Given the description of an element on the screen output the (x, y) to click on. 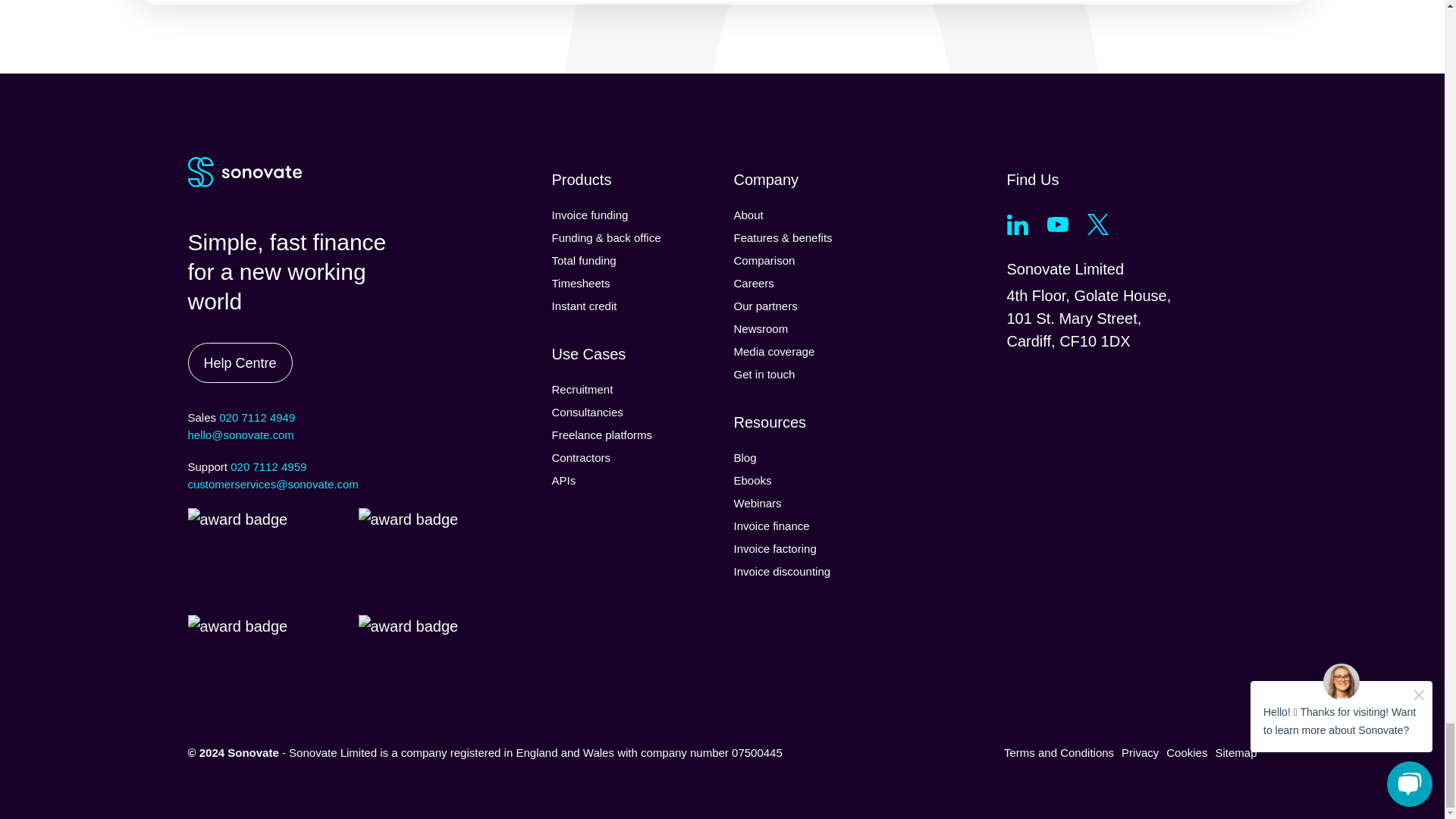
award badge (411, 561)
social-link (1017, 224)
award badge (241, 561)
social-link (1097, 224)
social-link (1056, 224)
award badge (411, 668)
award badge (241, 668)
